Given the description of an element on the screen output the (x, y) to click on. 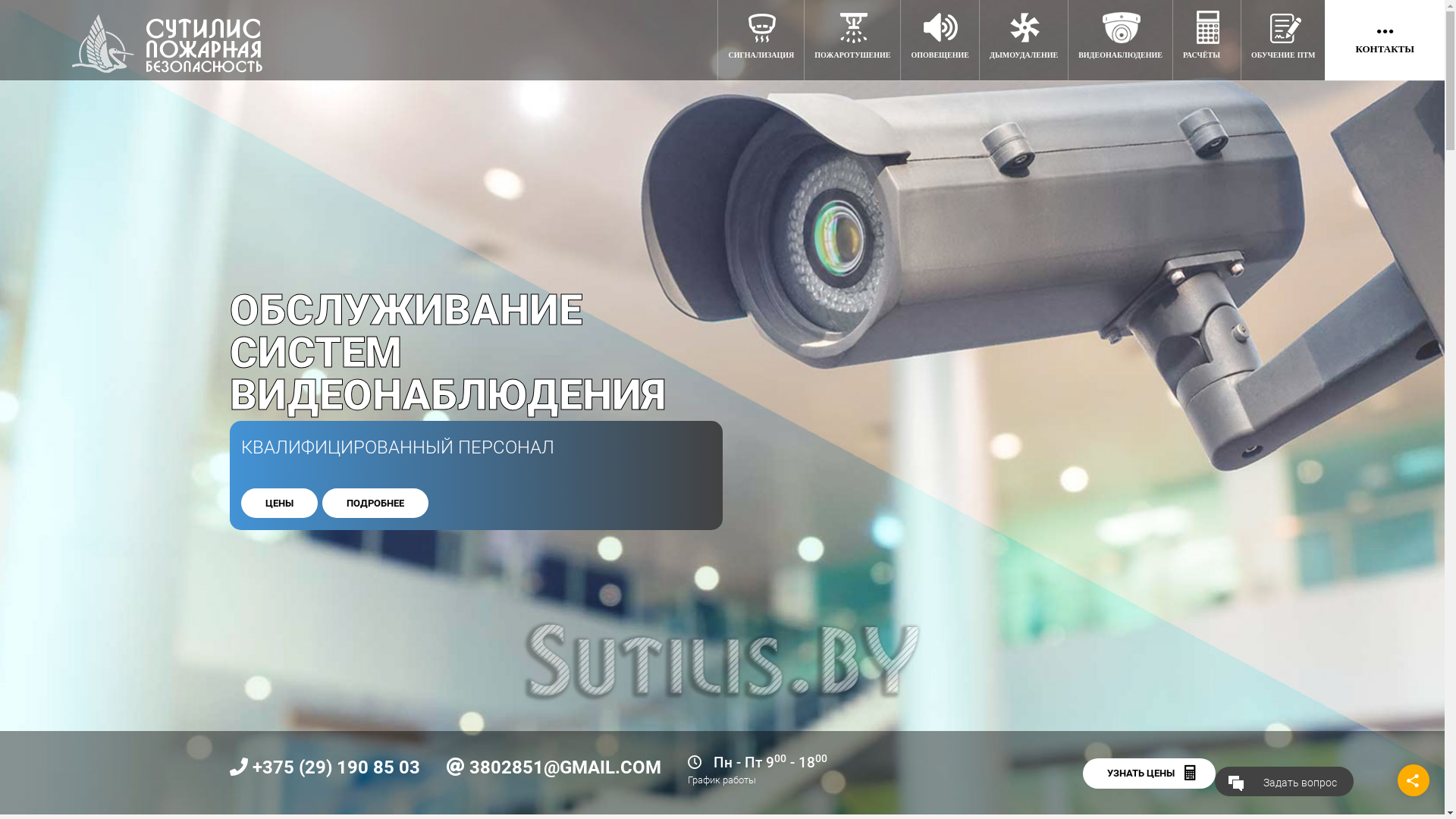
+375 (29) 190 85 03 Element type: text (335, 767)
3802851@GMAIL.COM Element type: text (564, 767)
